Given the description of an element on the screen output the (x, y) to click on. 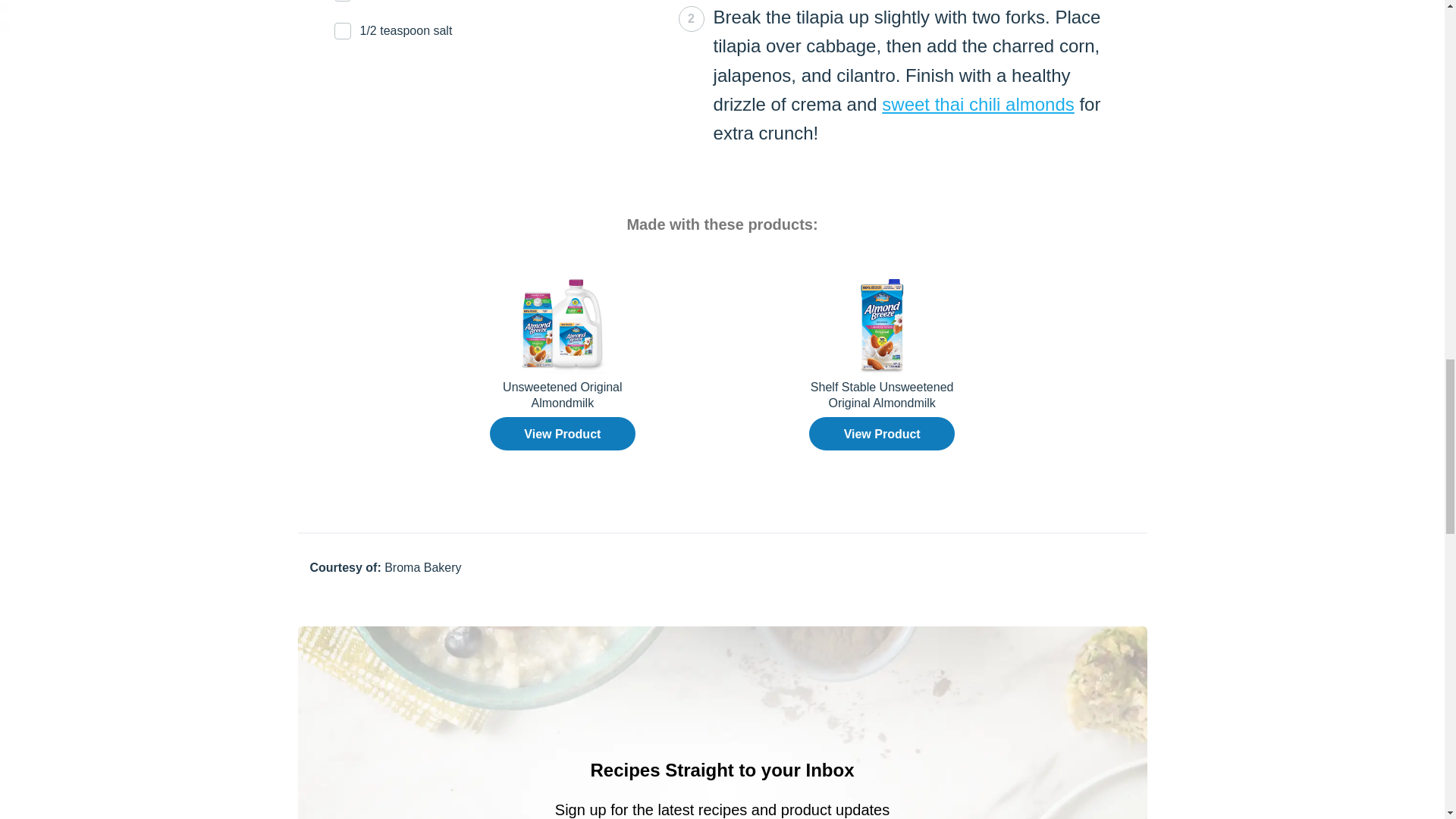
View Product (561, 433)
sweet thai chili almonds (978, 104)
on (5, 26)
View Product (882, 433)
on (5, 8)
